Given the description of an element on the screen output the (x, y) to click on. 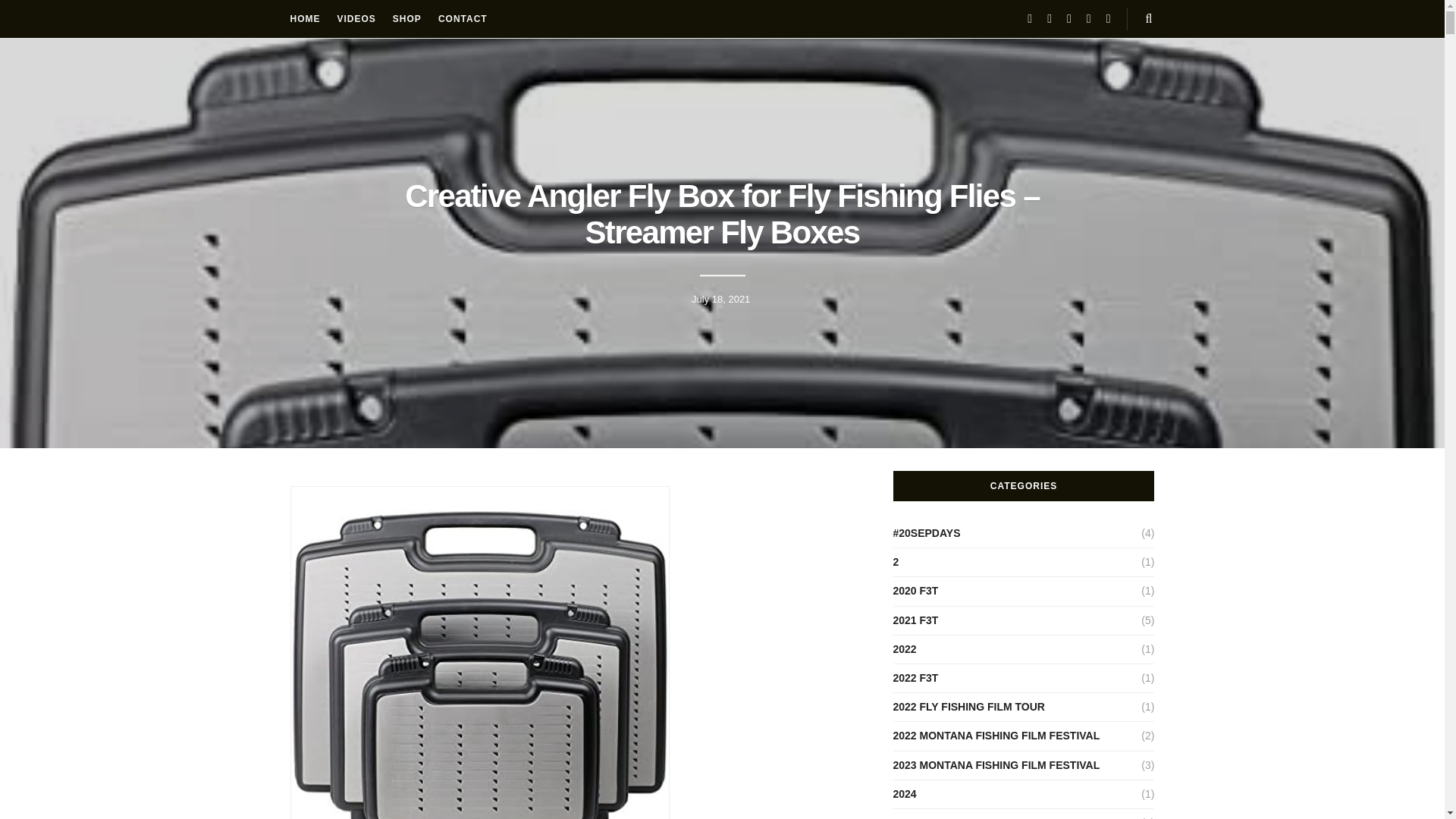
July 18, 2021 (720, 298)
VIDEOS (355, 18)
SHOP (407, 18)
CONTACT (462, 18)
HOME (304, 18)
